Given the description of an element on the screen output the (x, y) to click on. 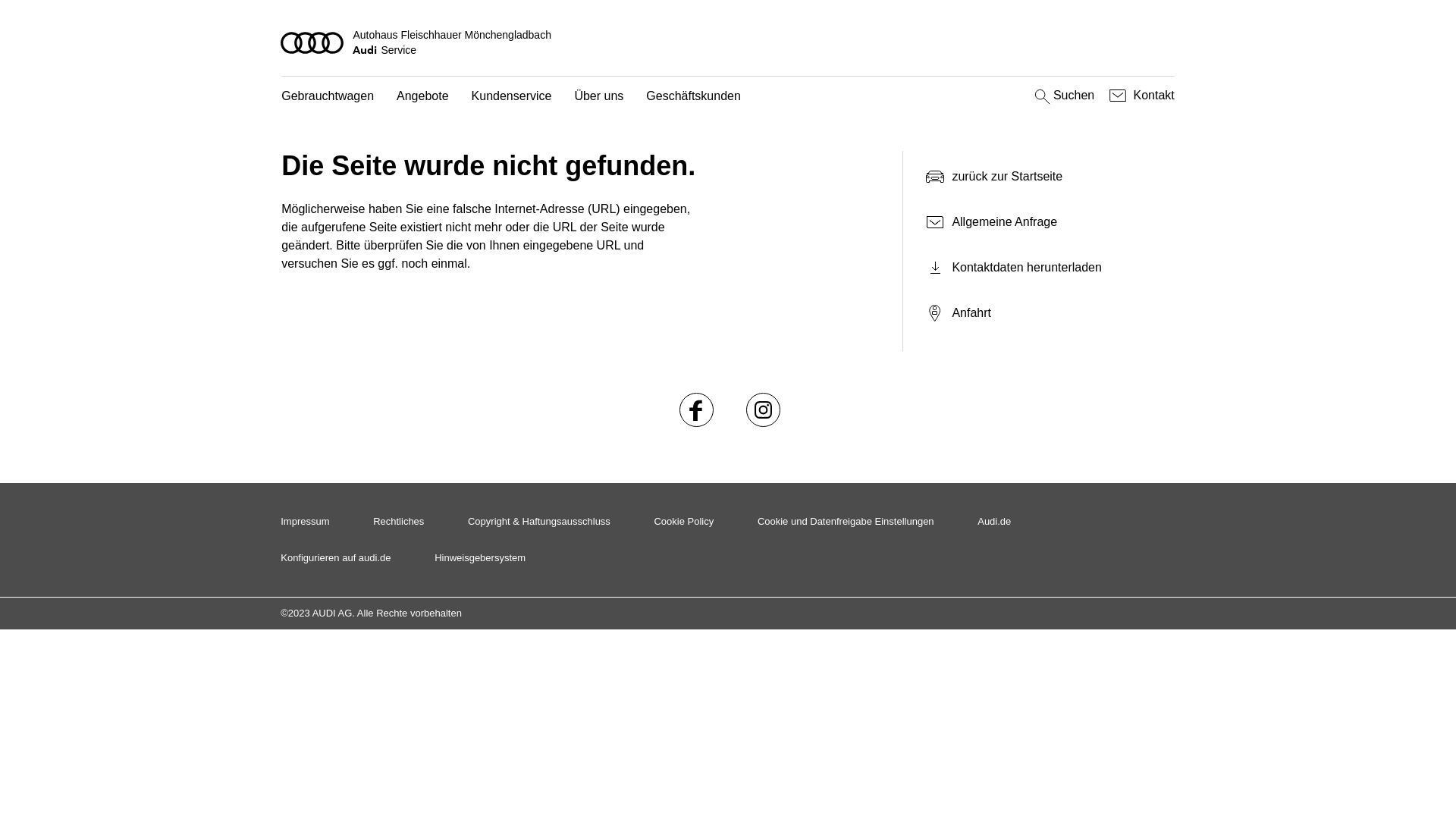
Allgemeine Anfrage Element type: text (1043, 222)
Audi.de Element type: text (993, 521)
Konfigurieren auf audi.de Element type: text (335, 557)
Angebote Element type: text (422, 96)
Anfahrt Element type: text (1049, 313)
Suchen Element type: text (1062, 95)
Hinweisgebersystem Element type: text (479, 557)
Kontakt Element type: text (1139, 95)
Copyright & Haftungsausschluss Element type: text (538, 521)
Cookie Policy Element type: text (683, 521)
Cookie und Datenfreigabe Einstellungen Element type: text (845, 521)
Instagram Element type: hover (763, 410)
Rechtliches Element type: text (398, 521)
Gebrauchtwagen Element type: text (327, 96)
Kundenservice Element type: text (511, 96)
Facebook Element type: hover (696, 410)
Impressum Element type: text (304, 521)
Kontaktdaten herunterladen Element type: text (1043, 267)
